Given the description of an element on the screen output the (x, y) to click on. 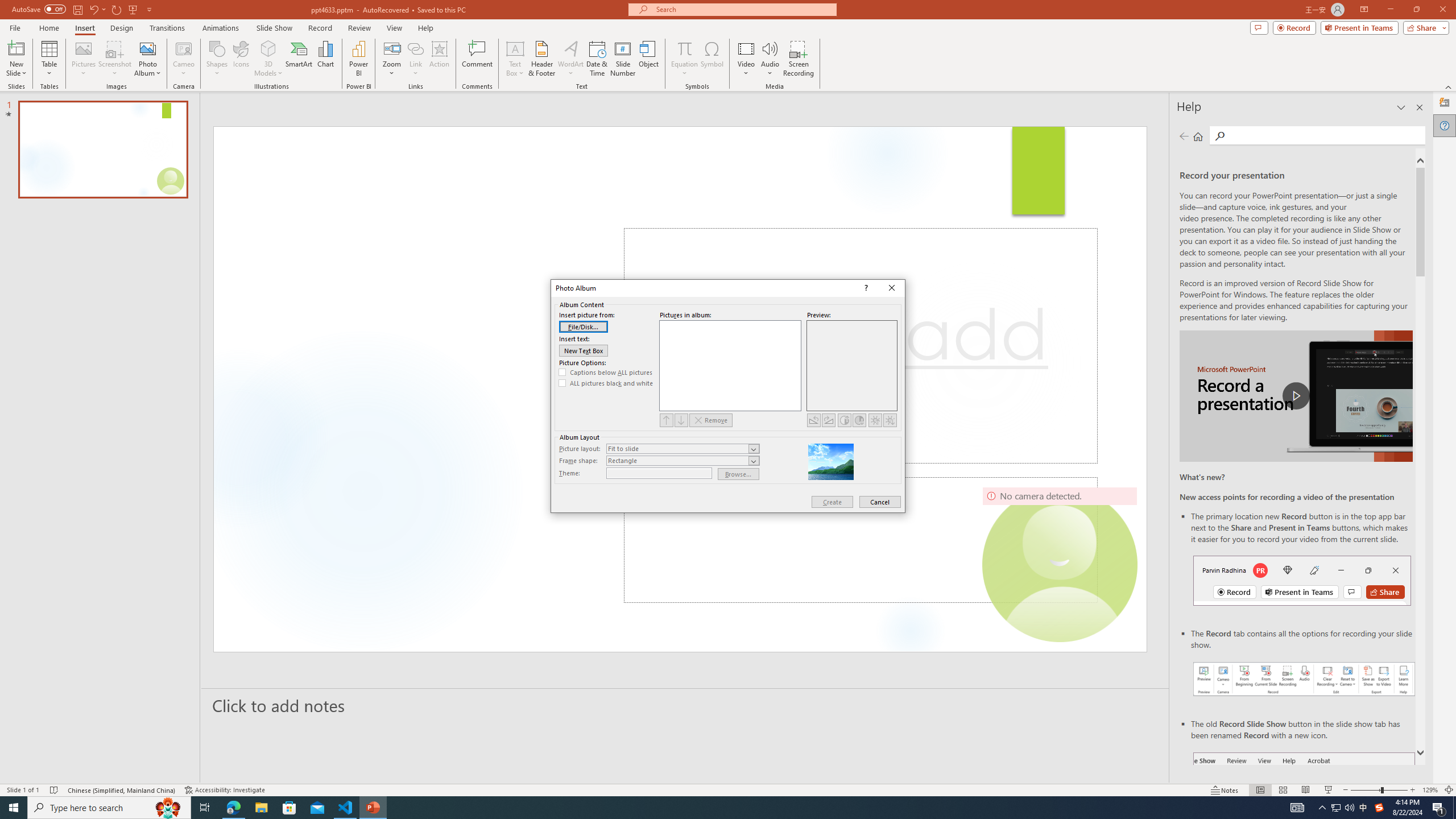
Icons (240, 58)
Frame shape (682, 460)
Link (415, 58)
Link (415, 48)
Screenshot (114, 58)
